Given the description of an element on the screen output the (x, y) to click on. 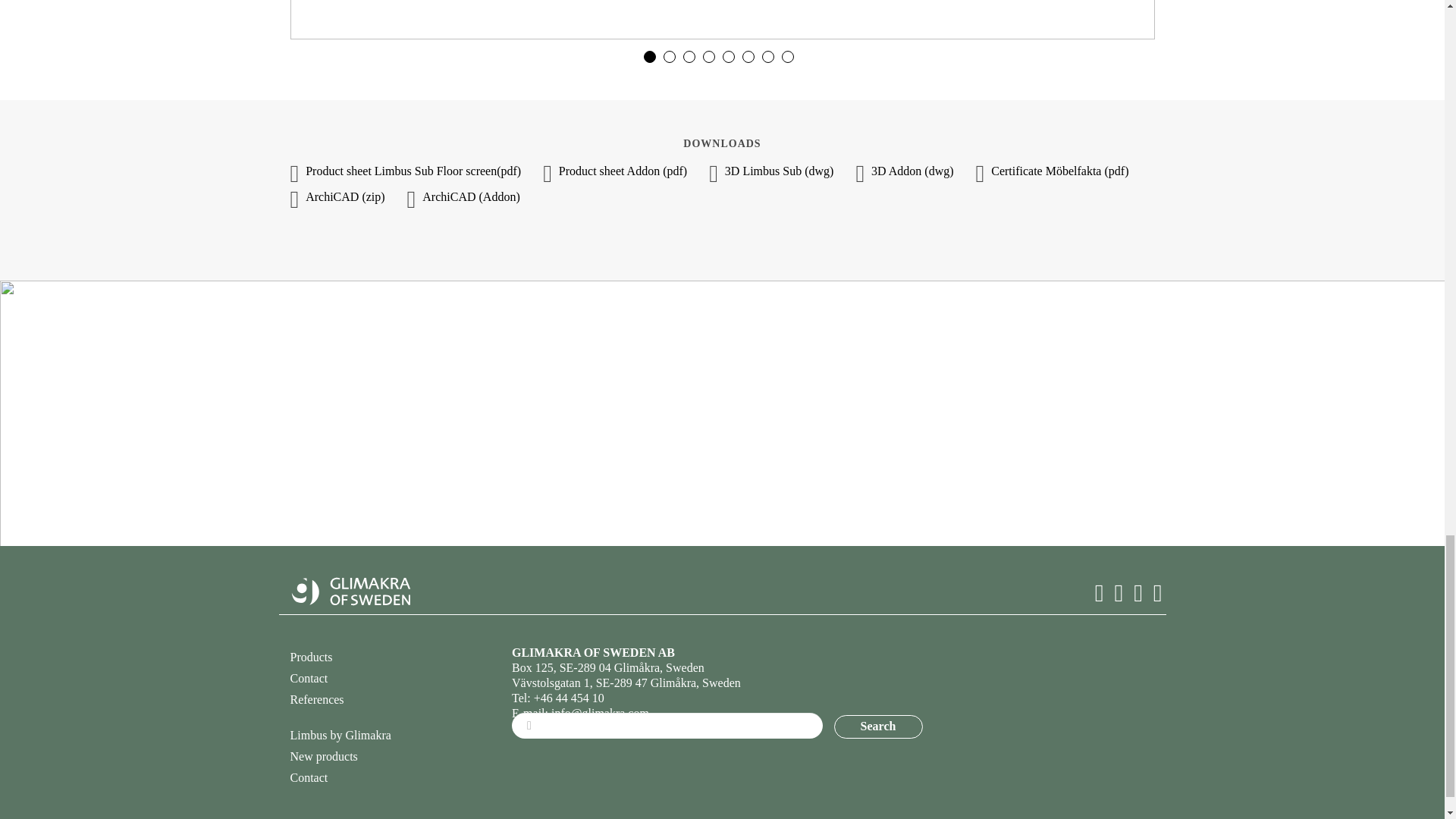
Search (878, 726)
Contact me (721, 476)
Products (310, 656)
